Given the description of an element on the screen output the (x, y) to click on. 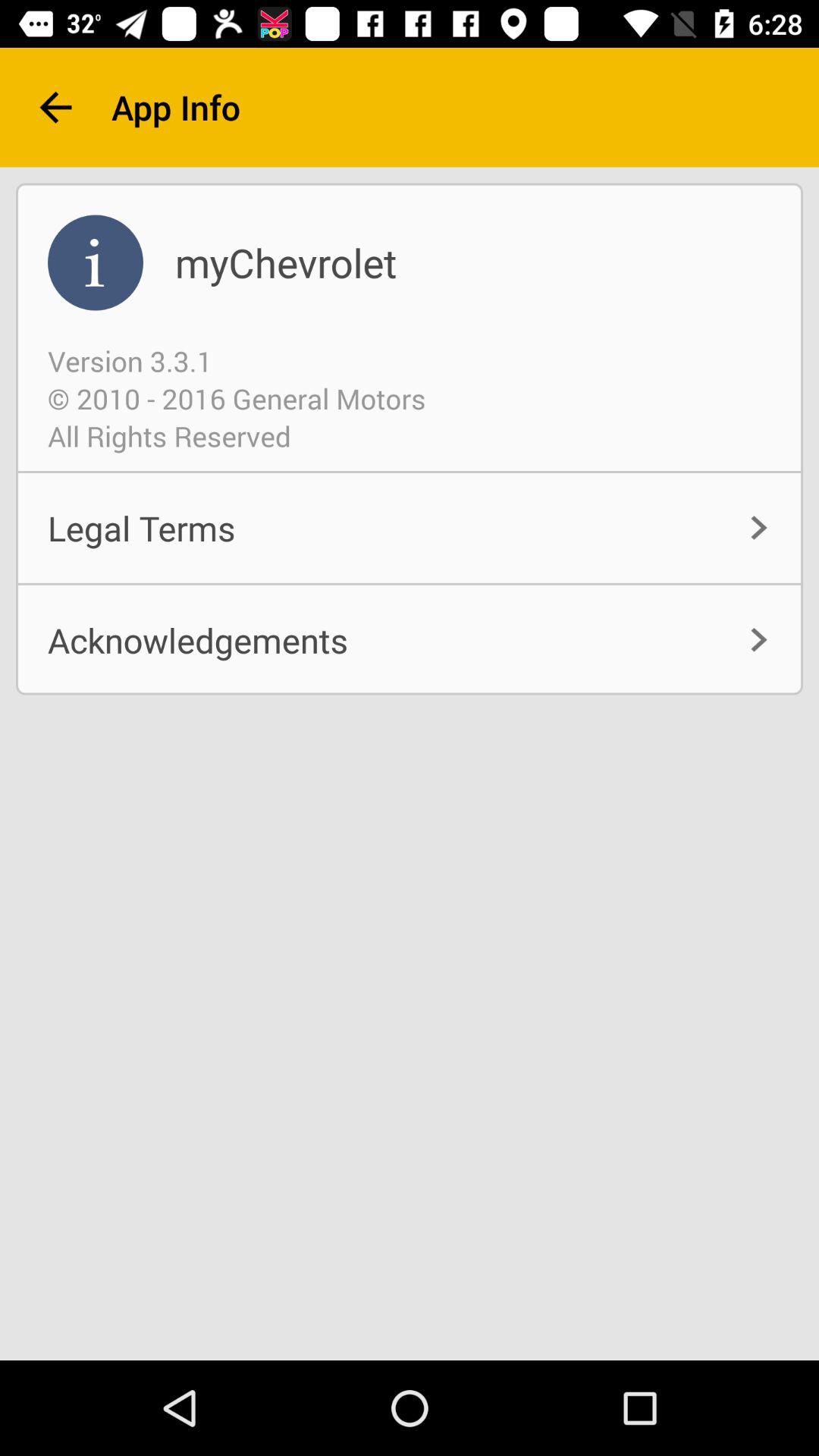
swipe until the acknowledgements item (409, 640)
